Given the description of an element on the screen output the (x, y) to click on. 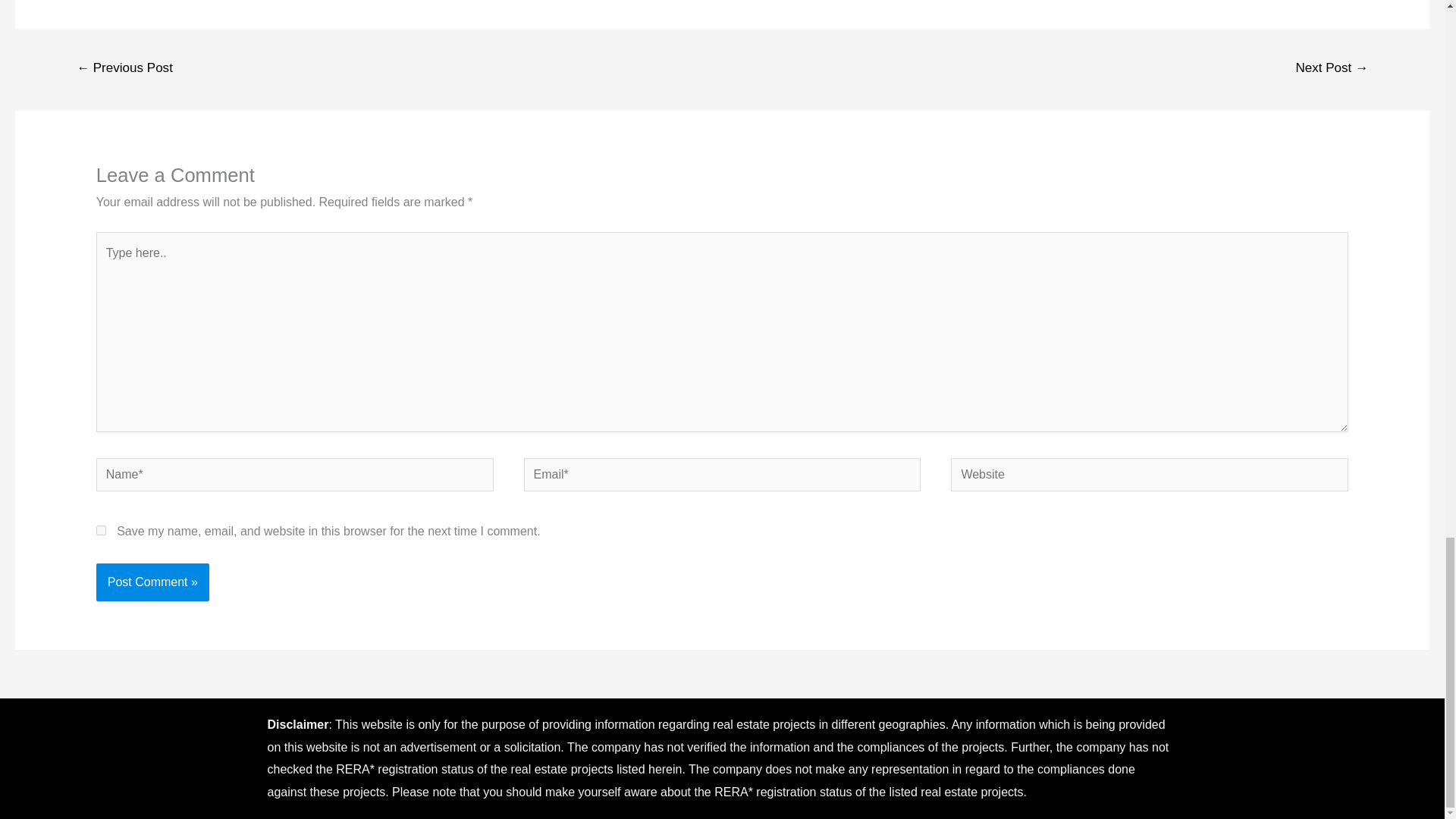
yes (101, 530)
